Given the description of an element on the screen output the (x, y) to click on. 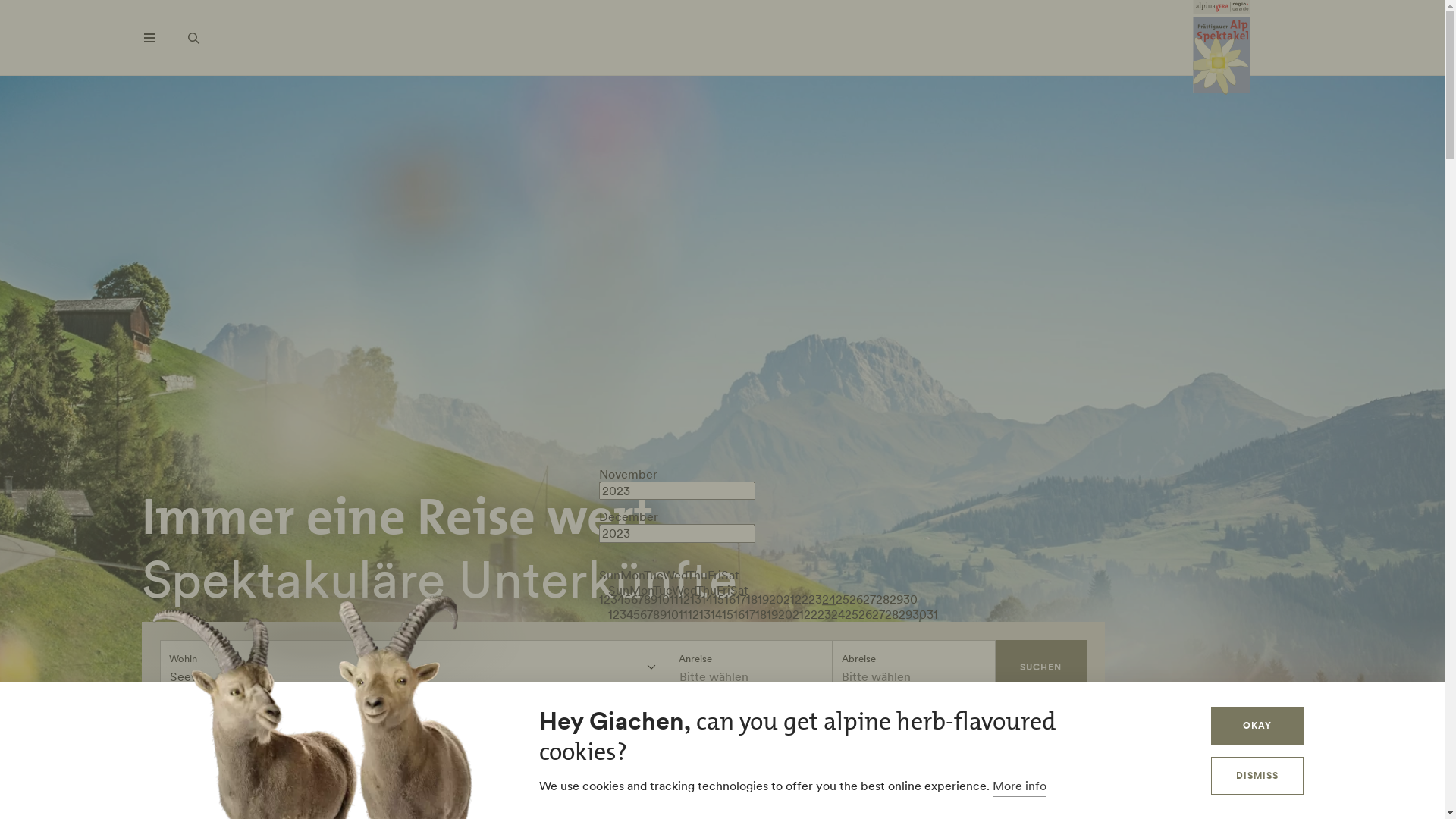
More info Element type: text (1018, 787)
OKAY Element type: text (1257, 725)
SUCHEN Element type: text (1040, 667)
Home Element type: hover (1221, 48)
DISMISS Element type: text (1257, 775)
